Given the description of an element on the screen output the (x, y) to click on. 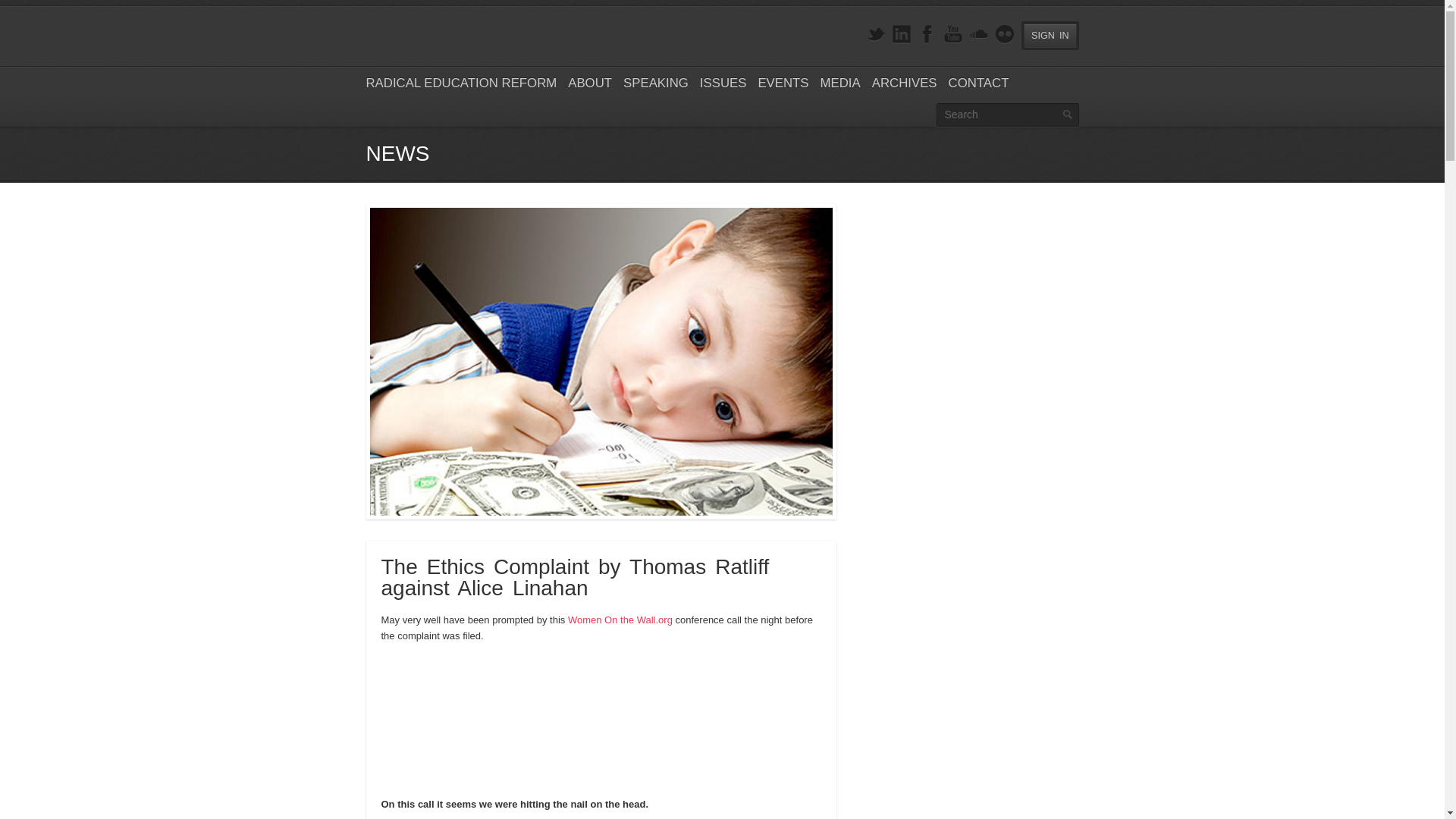
SPEAKING (655, 83)
Facebook (927, 34)
Women On the Wall (619, 619)
CONTACT (979, 83)
MEDIA (840, 83)
SIGN IN (1049, 35)
ARCHIVES (904, 83)
LinkedIn (901, 34)
RADICAL EDUCATION REFORM (460, 83)
YouTube (952, 34)
